Given the description of an element on the screen output the (x, y) to click on. 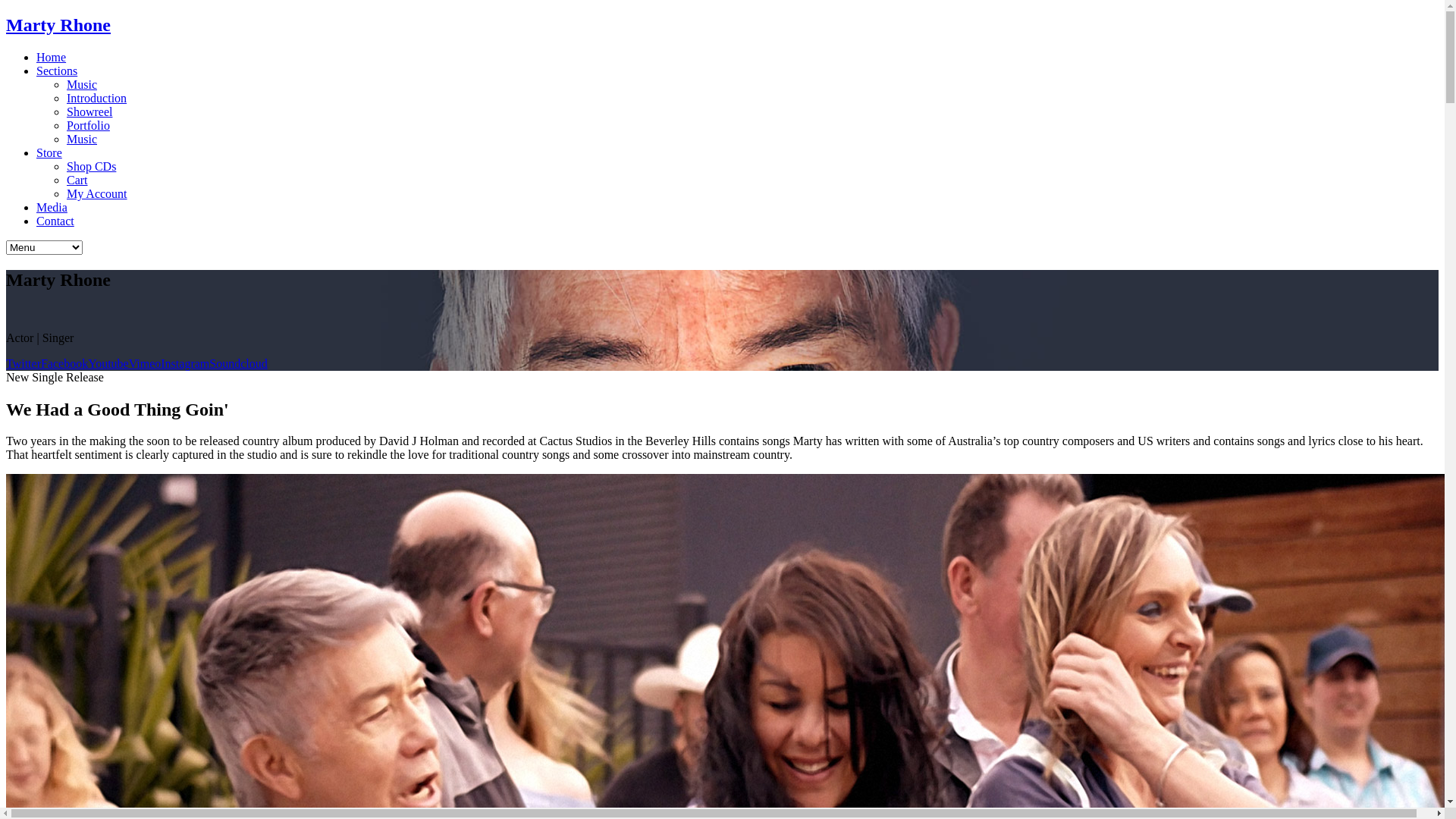
Shop CDs Element type: text (91, 166)
Cart Element type: text (76, 179)
Vimeo Element type: text (144, 363)
Sections Element type: text (56, 70)
Instagram Element type: text (184, 363)
My Account Element type: text (96, 193)
Contact Element type: text (55, 220)
Introduction Element type: text (96, 97)
Facebook Element type: text (63, 363)
Marty Rhone Element type: text (722, 25)
Youtube Element type: text (107, 363)
Showreel Element type: text (89, 111)
Store Element type: text (49, 152)
Music Element type: text (81, 84)
Media Element type: text (51, 206)
Music Element type: text (81, 138)
Twitter Element type: text (23, 363)
Portfolio Element type: text (87, 125)
Home Element type: text (50, 56)
Soundcloud Element type: text (237, 363)
